Given the description of an element on the screen output the (x, y) to click on. 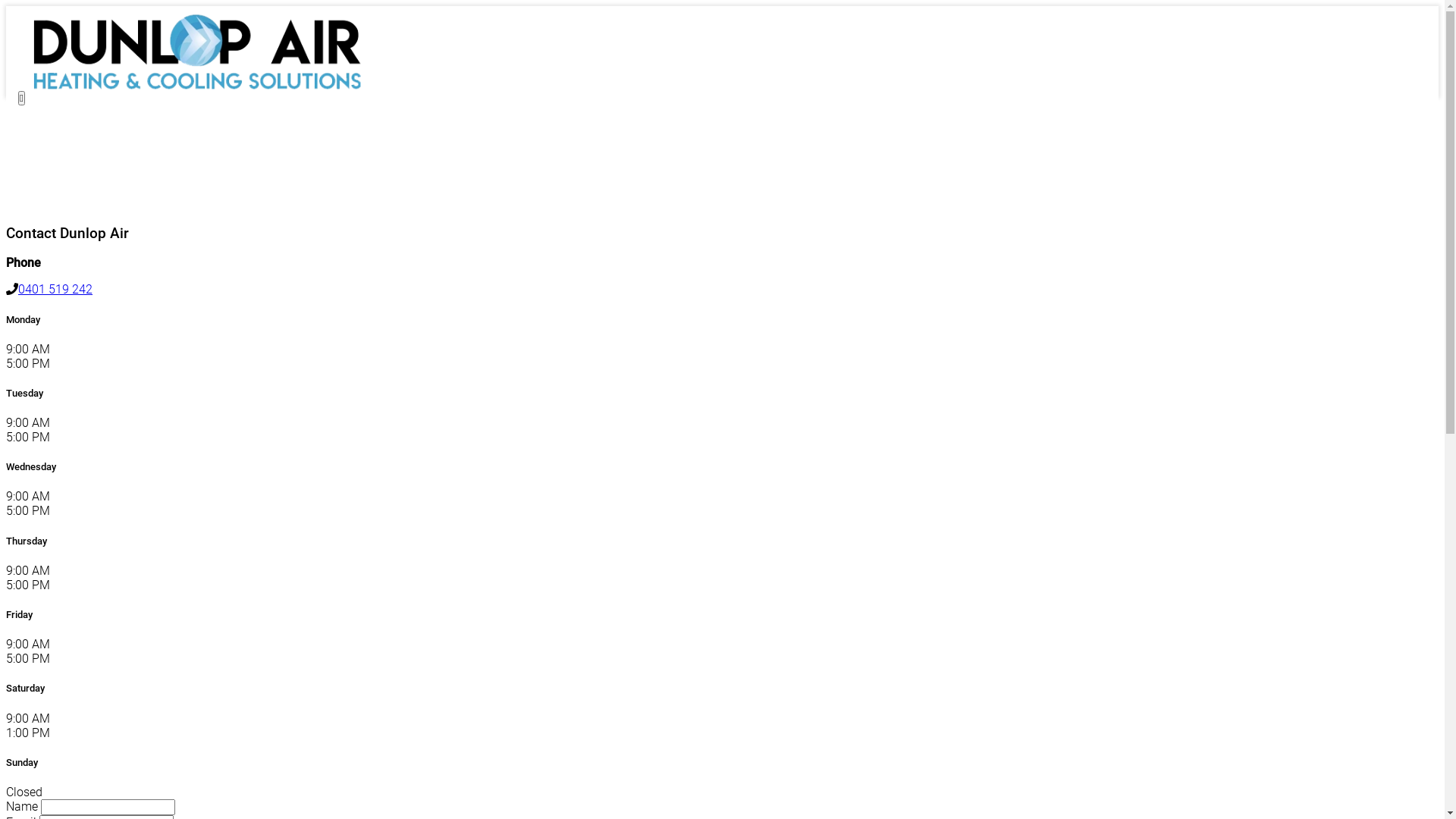
0401 519 242 Element type: text (55, 289)
Contact Us Element type: text (737, 167)
Services Element type: text (737, 145)
Home Element type: text (737, 123)
